Given the description of an element on the screen output the (x, y) to click on. 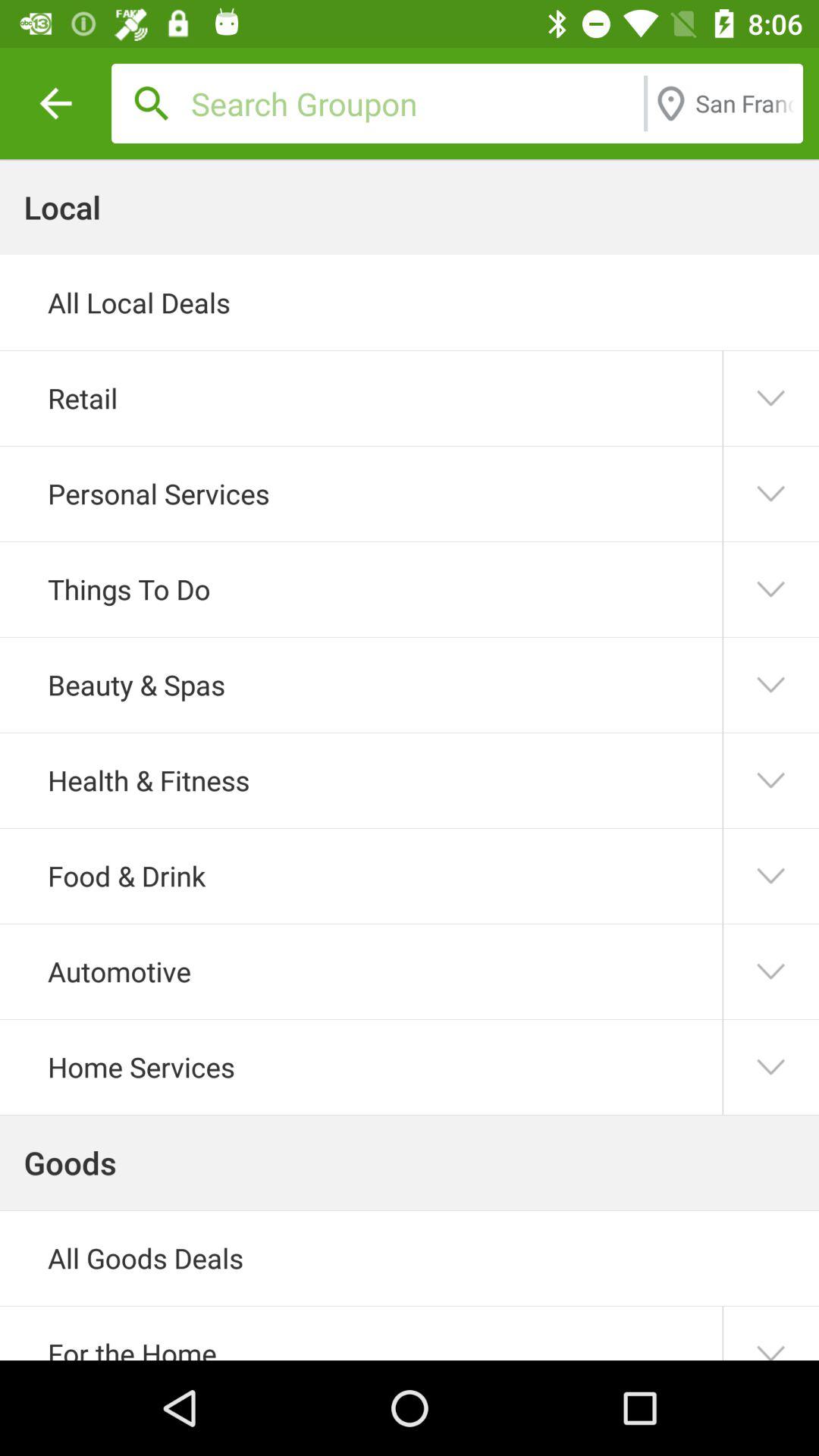
search groupon (413, 103)
